Given the description of an element on the screen output the (x, y) to click on. 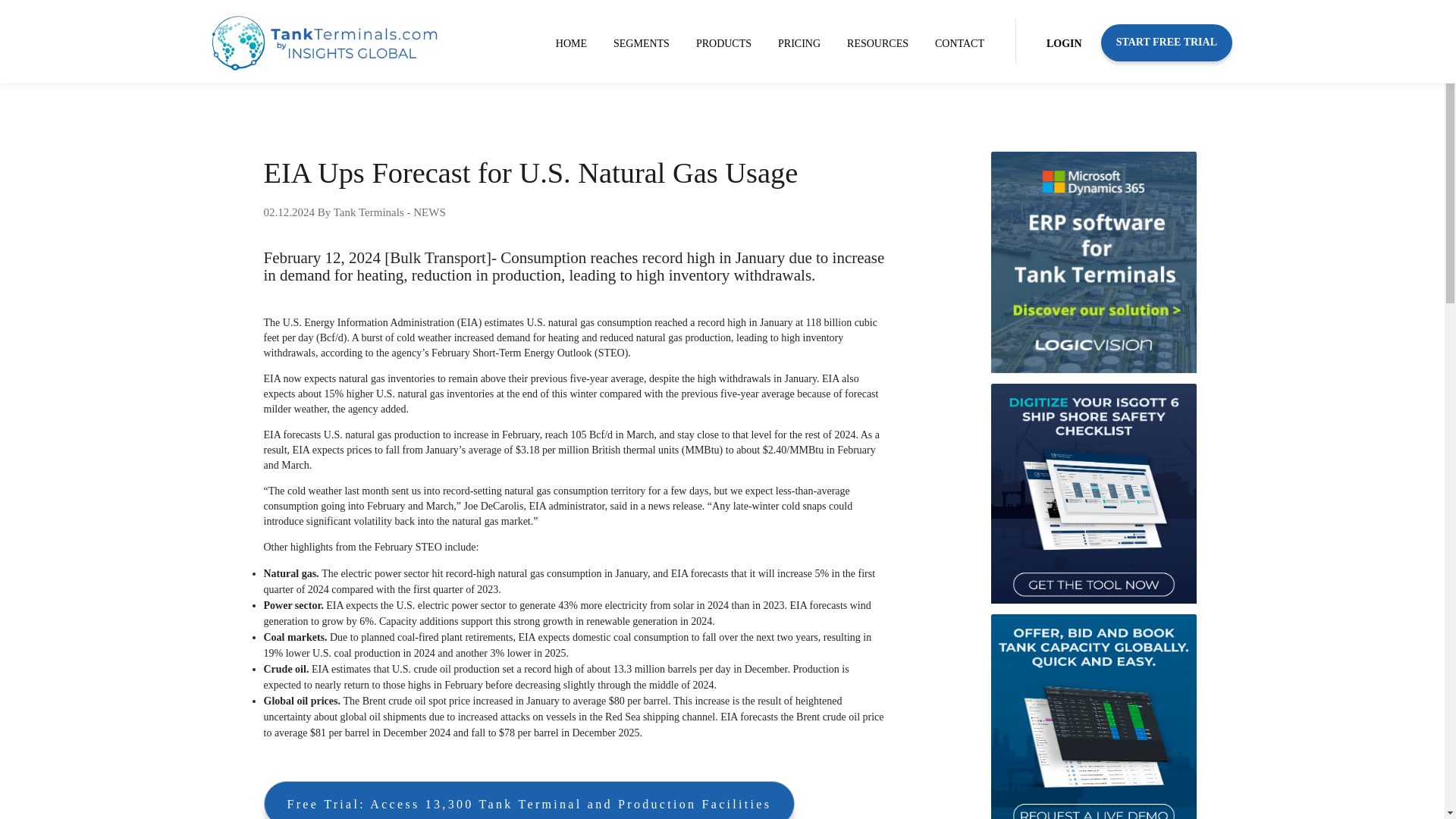
PRICING (799, 43)
SEGMENTS (641, 43)
CONTACT (959, 43)
LOGIN (1064, 43)
RESOURCES (877, 43)
START FREE TRIAL (1165, 42)
HOME (571, 43)
PRODUCTS (723, 43)
